Given the description of an element on the screen output the (x, y) to click on. 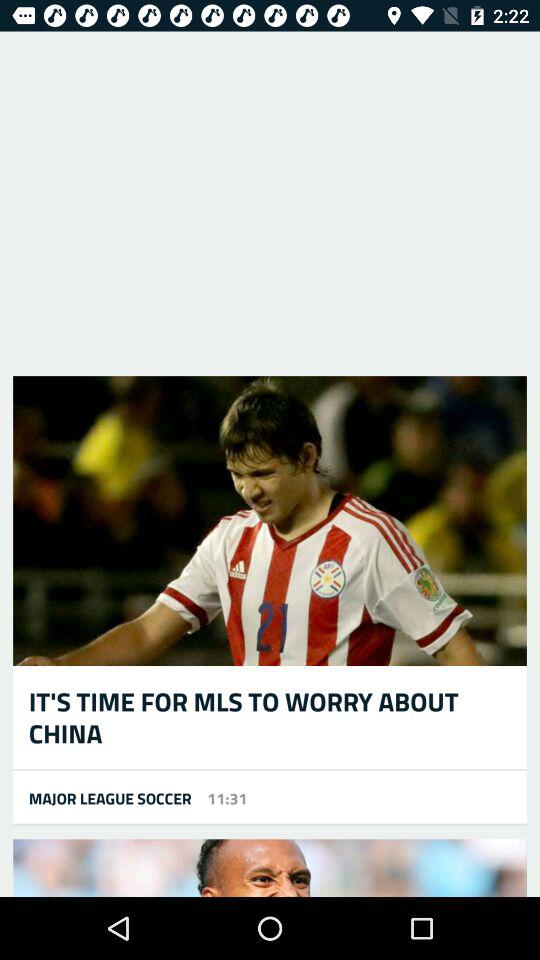
click the item next to the 11:31 (102, 798)
